Given the description of an element on the screen output the (x, y) to click on. 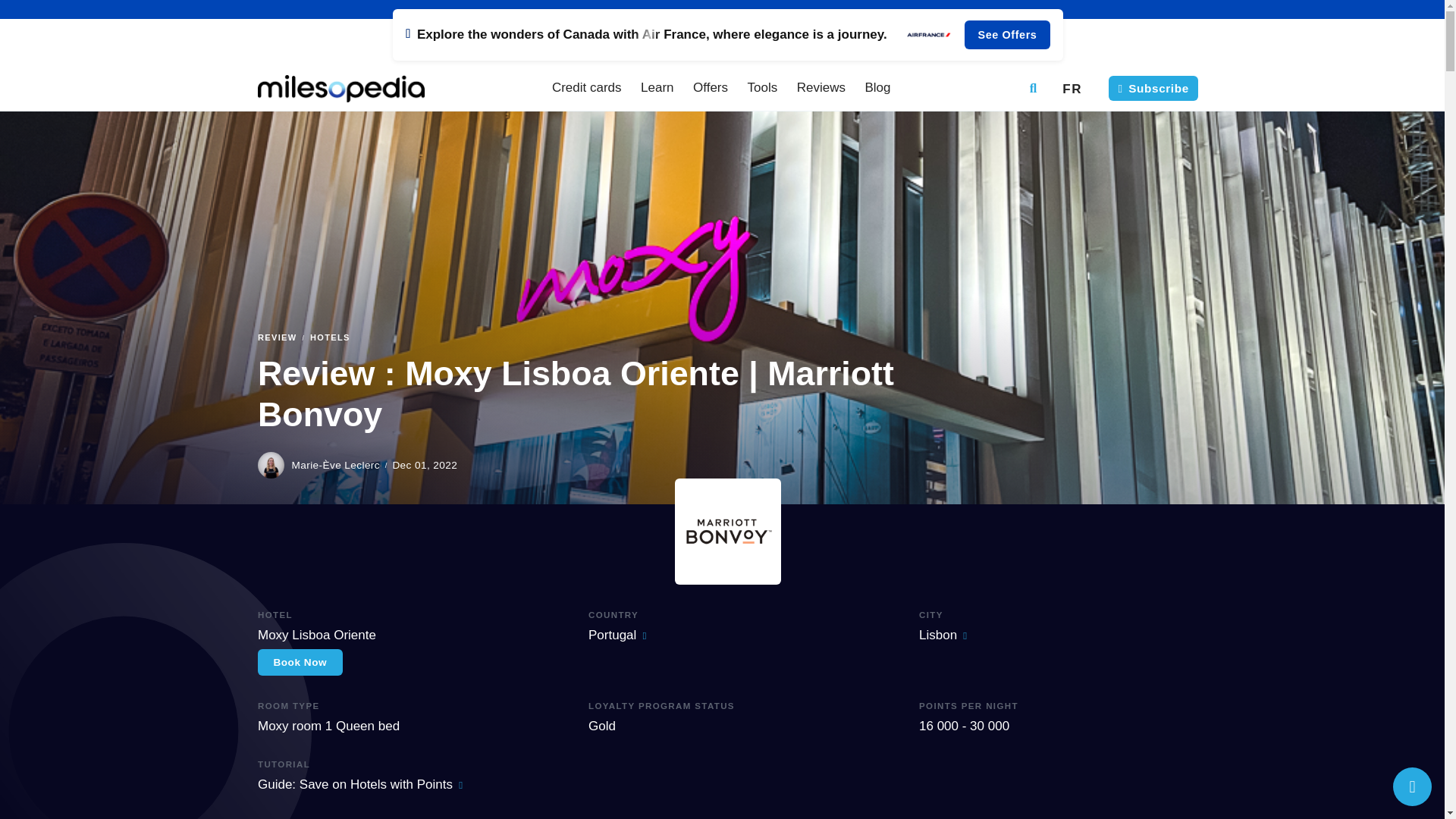
See Offers (727, 35)
